Given the description of an element on the screen output the (x, y) to click on. 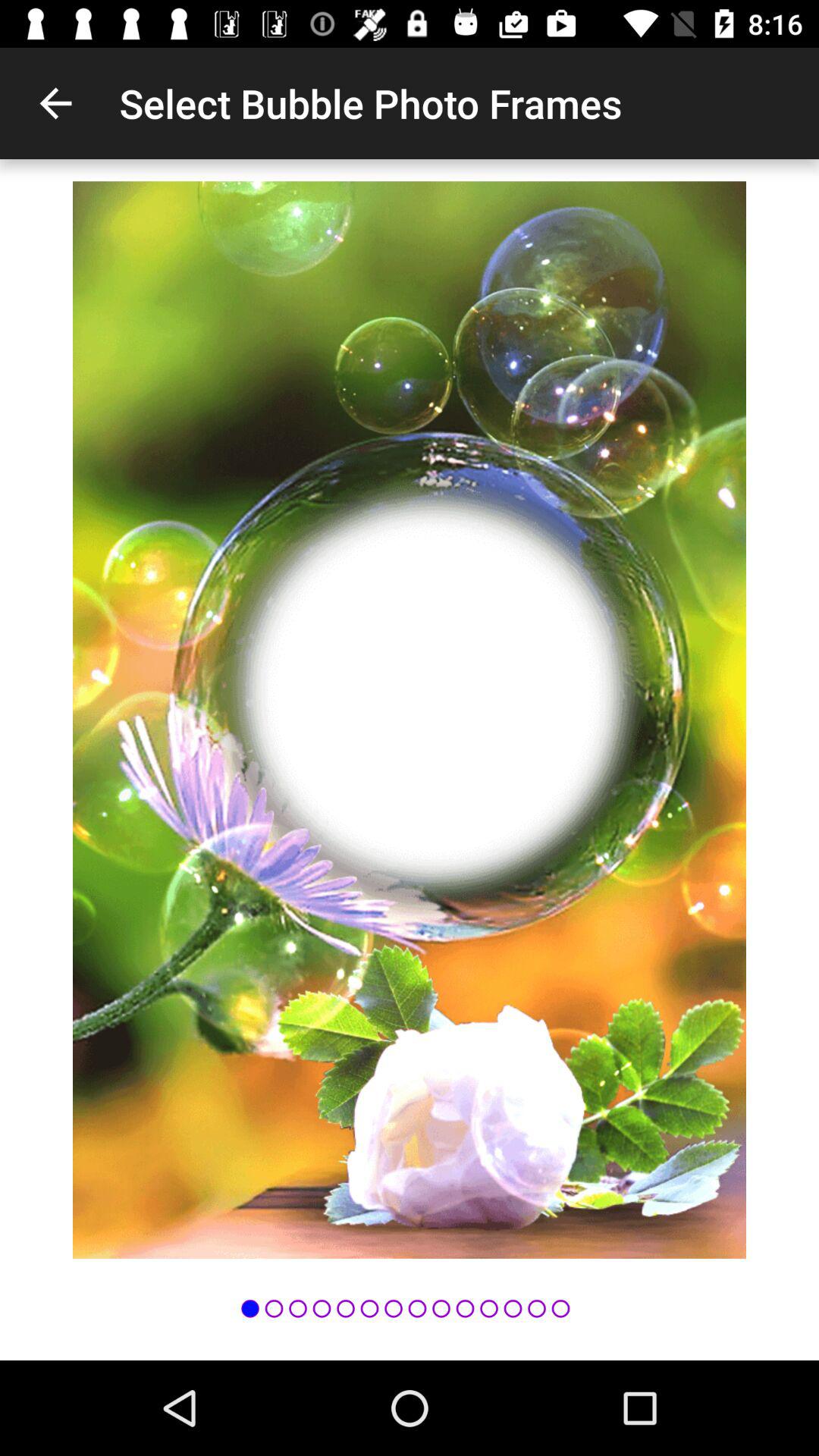
select the icon at the center (409, 719)
